Given the description of an element on the screen output the (x, y) to click on. 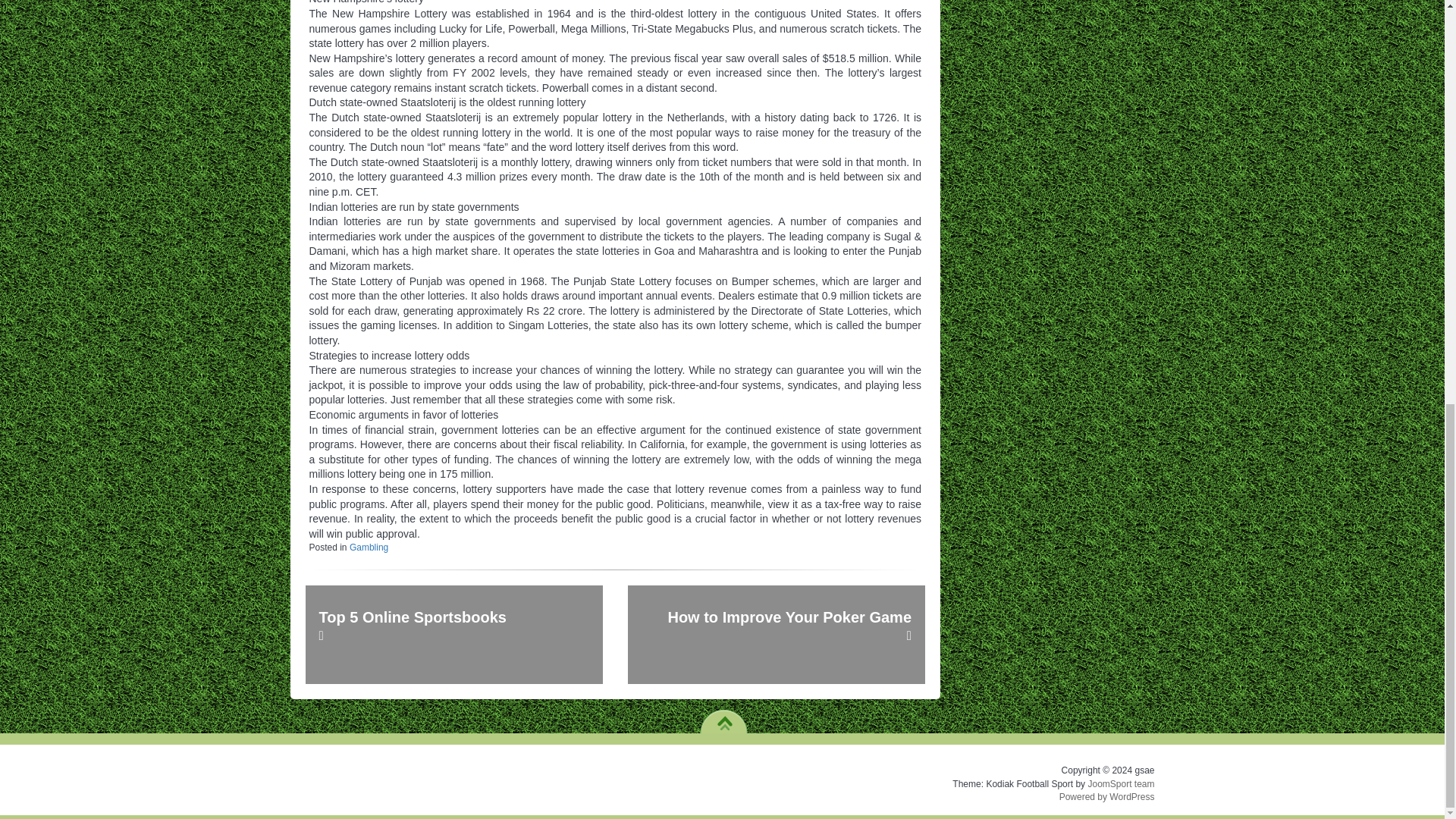
Gambling (368, 547)
 The Best WordPress Sport Plugin for your league and club  (1120, 783)
Top 5 Online Sportsbooks (453, 634)
How to Improve Your Poker Game (775, 634)
